Given the description of an element on the screen output the (x, y) to click on. 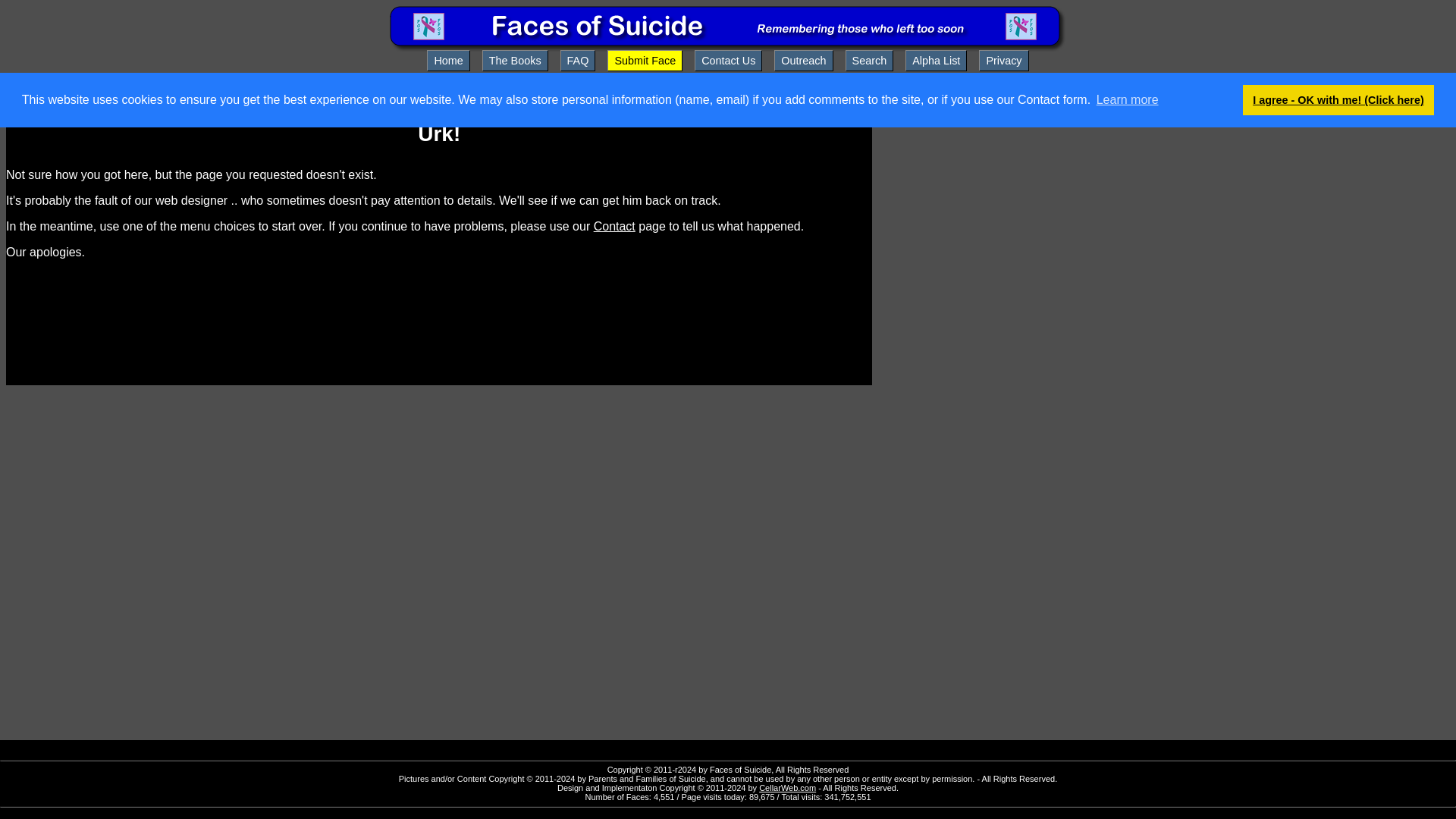
Privacy (1002, 60)
Submit Face (644, 60)
Contact (614, 226)
Alpha List (935, 60)
CellarWeb.com (786, 787)
Search (869, 60)
CellarWeb.com (786, 787)
Home (447, 60)
FAQ (577, 60)
The Books (514, 60)
Learn more (1127, 99)
Contact Us (727, 60)
Outreach (803, 60)
Faces of Suicide (727, 47)
